Given the description of an element on the screen output the (x, y) to click on. 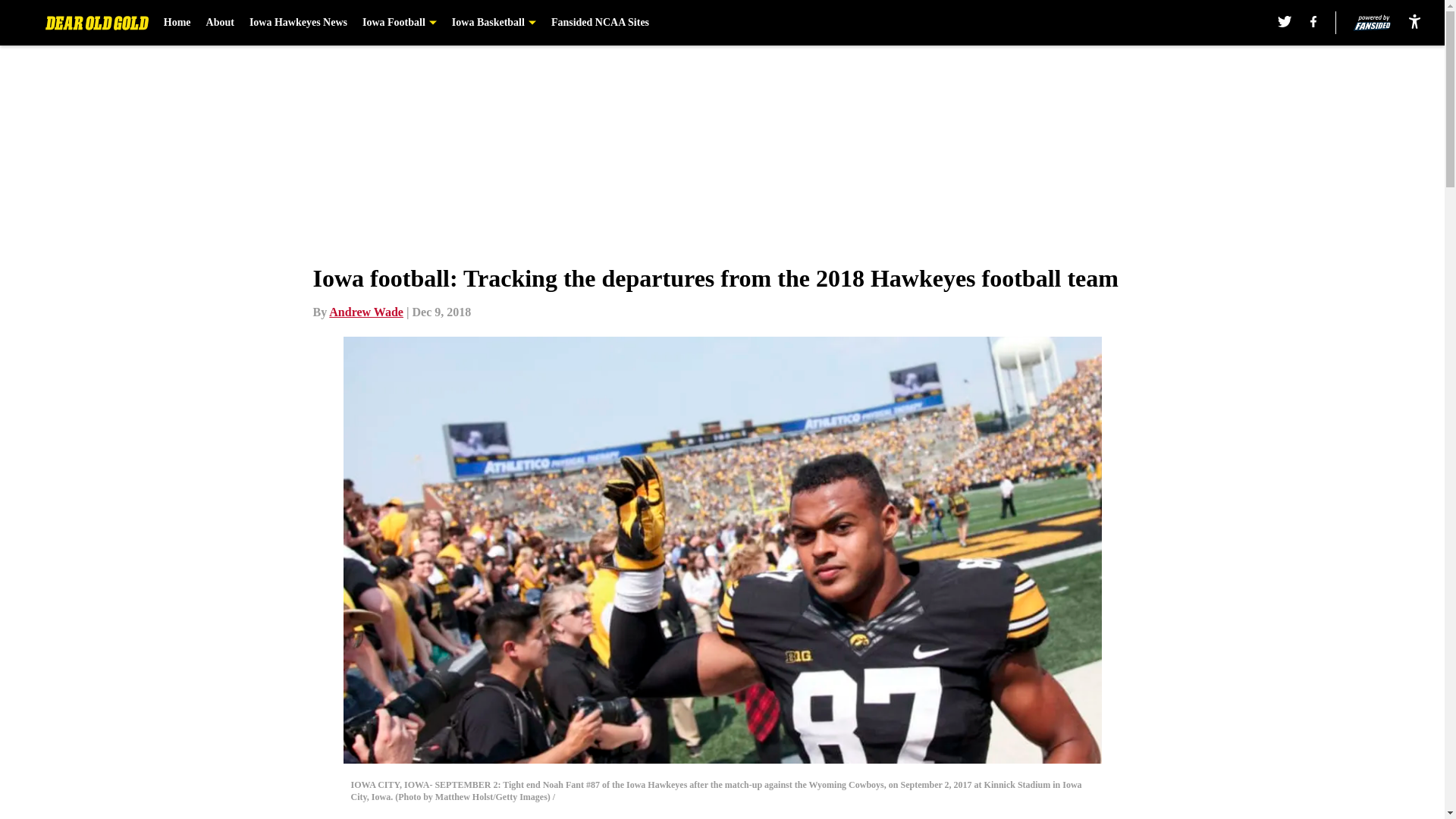
Home (176, 22)
Fansided NCAA Sites (600, 22)
About (220, 22)
Andrew Wade (366, 311)
Iowa Hawkeyes News (297, 22)
